Given the description of an element on the screen output the (x, y) to click on. 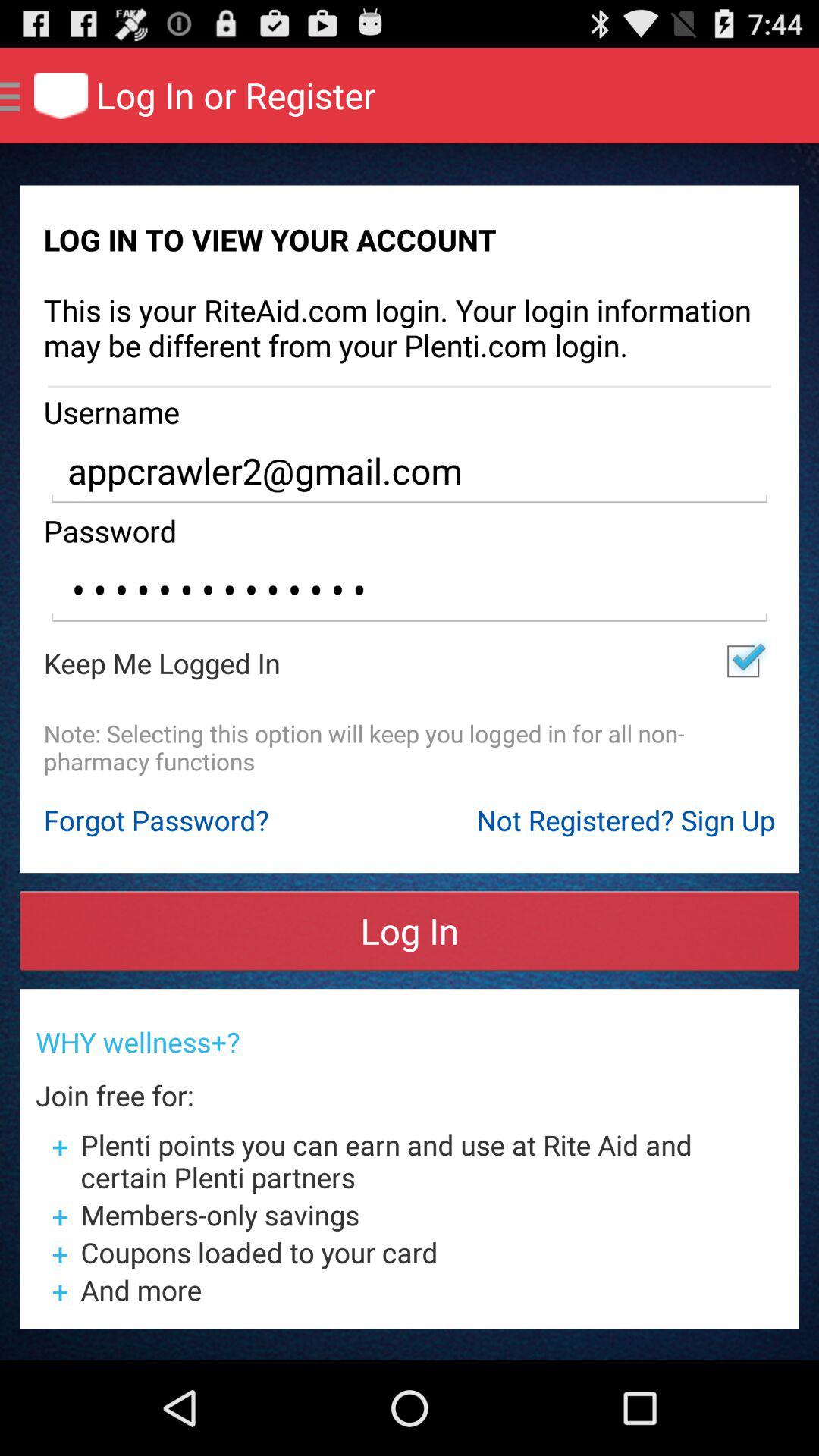
tap item to the right of forgot password? (625, 819)
